Given the description of an element on the screen output the (x, y) to click on. 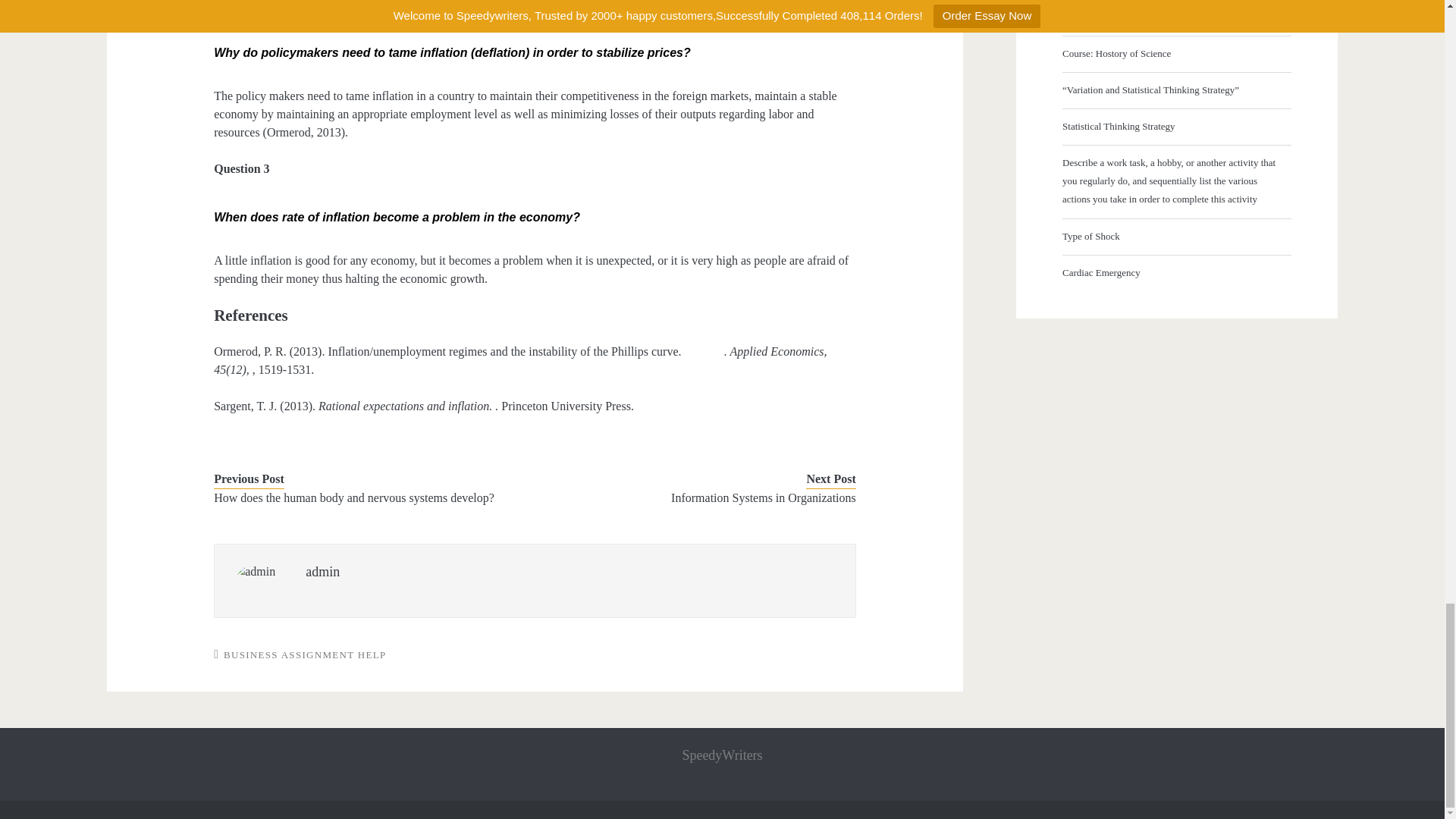
How does the human body and nervous systems develop? (361, 497)
 Information Systems in Organizations (708, 497)
View all posts in Business Assignment help (304, 654)
BUSINESS ASSIGNMENT HELP (304, 654)
